Given the description of an element on the screen output the (x, y) to click on. 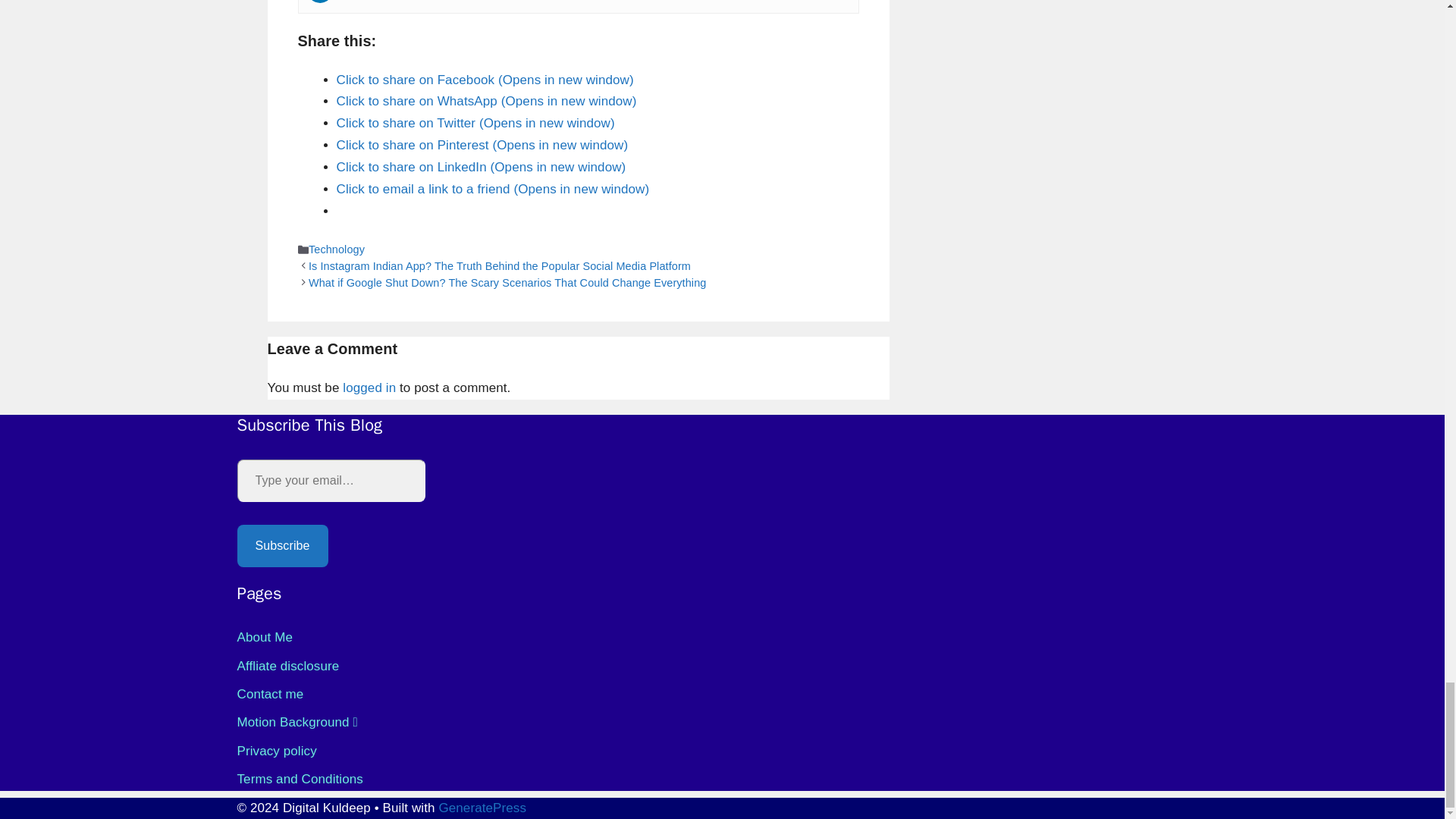
Linkedin (319, 1)
Click to share on Facebook (484, 79)
Technology (336, 249)
Click to share on WhatsApp (486, 101)
Click to email a link to a friend (492, 188)
Click to share on Twitter (475, 123)
Click to share on Pinterest (482, 145)
Click to share on LinkedIn (481, 166)
